Given the description of an element on the screen output the (x, y) to click on. 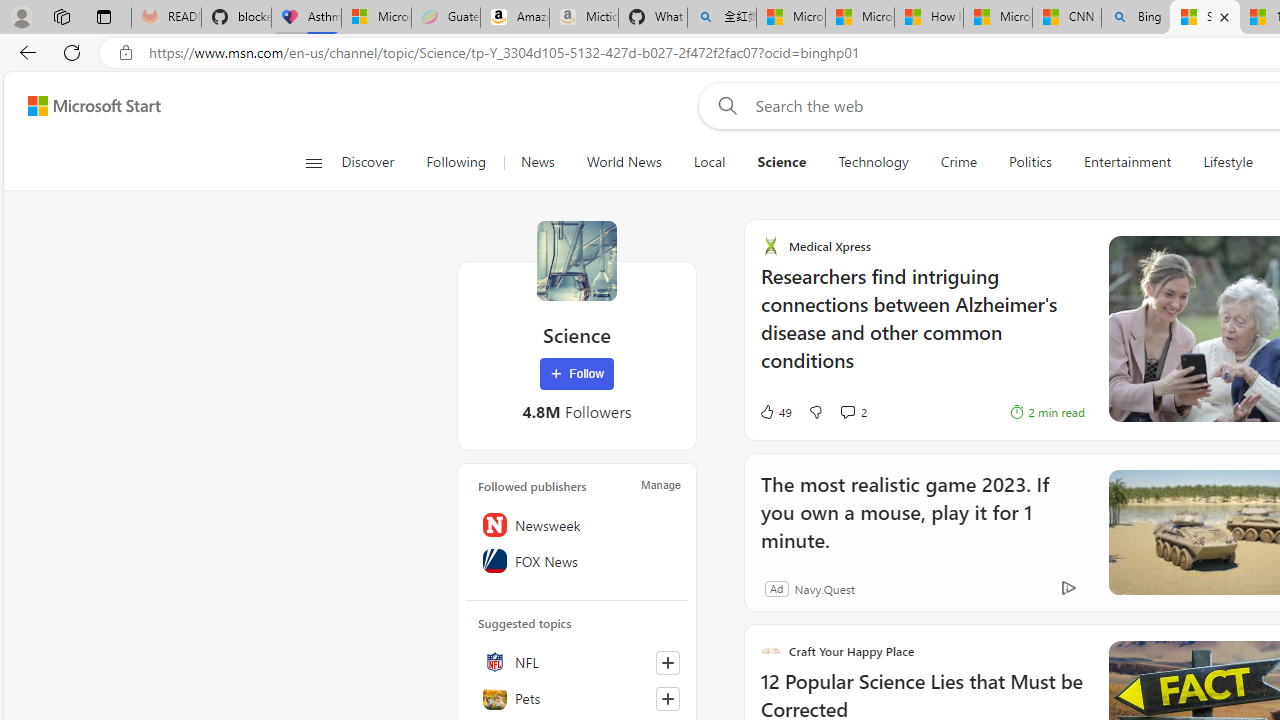
Bing (1135, 17)
How I Got Rid of Microsoft Edge's Unnecessary Features (928, 17)
Science - MSN (1205, 17)
CNN - MSN (1066, 17)
